Given the description of an element on the screen output the (x, y) to click on. 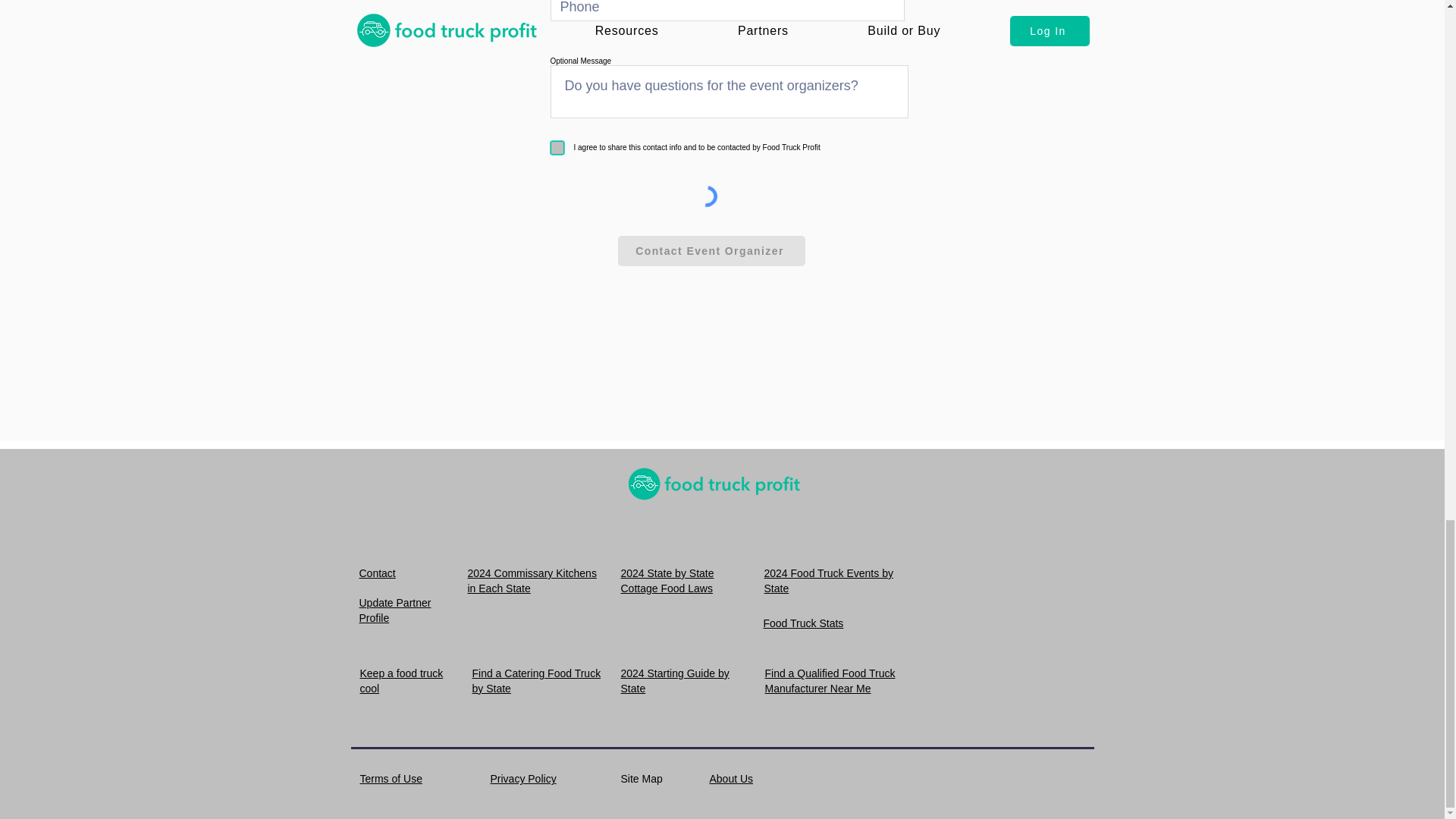
Find a Qualified Food Truck Manufacturer Near Me (829, 680)
2024 State by State Cottage Food Laws (666, 580)
Terms of Use (390, 778)
Contact (377, 573)
2024 Food Truck Events by State (828, 580)
Find a Catering Food Truck by State (535, 680)
Food Truck Stats (802, 623)
Privacy Policy (522, 778)
About Us (732, 778)
2024 Commissary Kitchens in Each State (531, 580)
Update Partner Profile (394, 610)
2024 Starting Guide by State (674, 680)
Keep a food truck cool (400, 680)
Contact Event Organizer (711, 250)
